Given the description of an element on the screen output the (x, y) to click on. 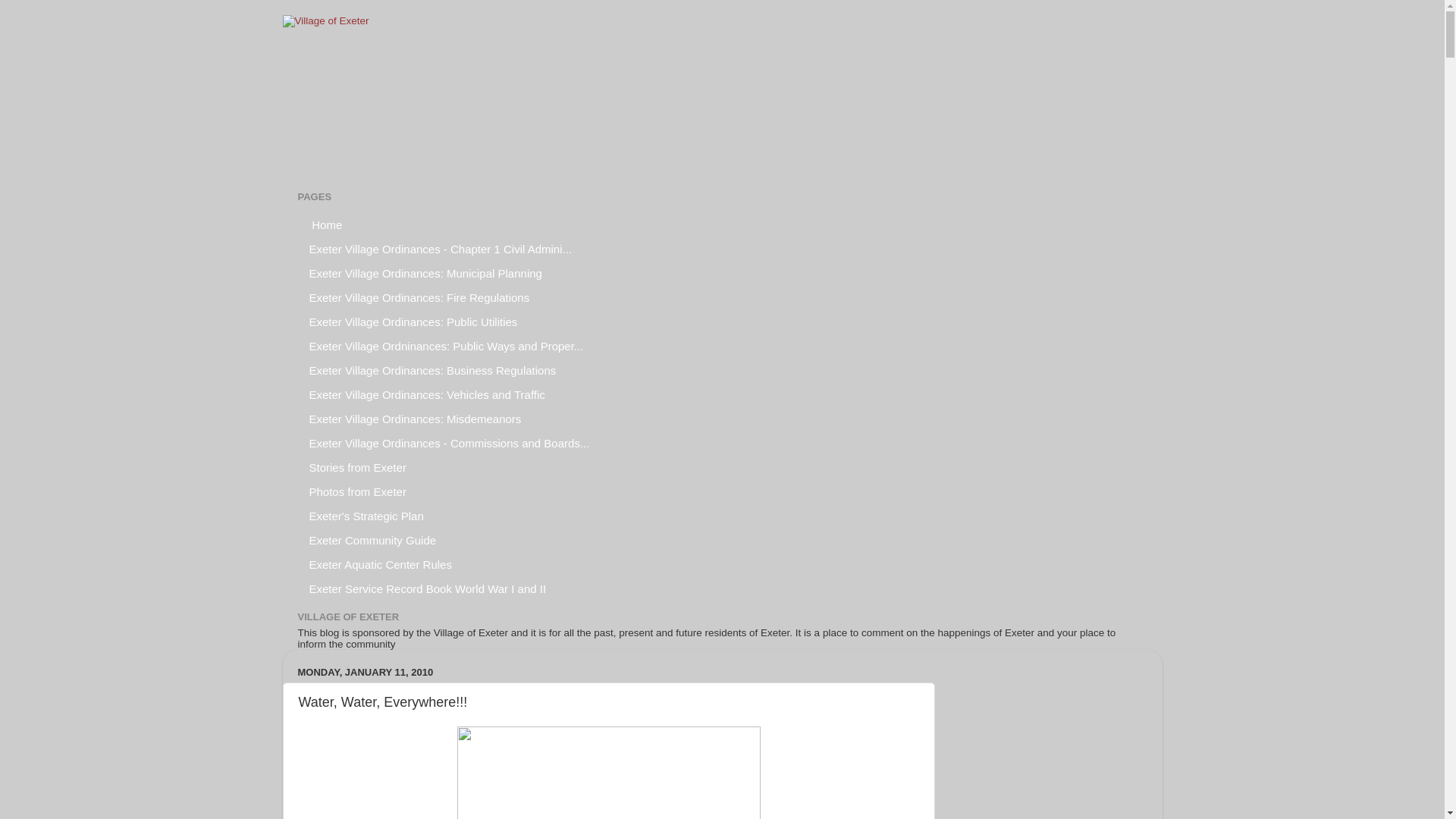
Exeter Community Guide (372, 539)
Exeter's Strategic Plan (366, 515)
Exeter Service Record Book World War I and II (427, 588)
Exeter Village Ordninances: Public Ways and Proper... (446, 345)
Exeter Village Ordinances: Public Utilities (413, 321)
Exeter Village Ordinances - Commissions and Boards... (449, 442)
Exeter Village Ordinances: Misdemeanors (414, 418)
Exeter Village Ordinances: Municipal Planning (425, 273)
Exeter Aquatic Center Rules (380, 564)
Exeter Village Ordinances: Fire Regulations (419, 297)
Home (325, 224)
Stories from Exeter (357, 467)
Exeter Village Ordinances: Vehicles and Traffic (426, 394)
Exeter Village Ordinances - Chapter 1 Civil Admini... (440, 248)
Exeter Village Ordinances: Business Regulations (432, 369)
